Given the description of an element on the screen output the (x, y) to click on. 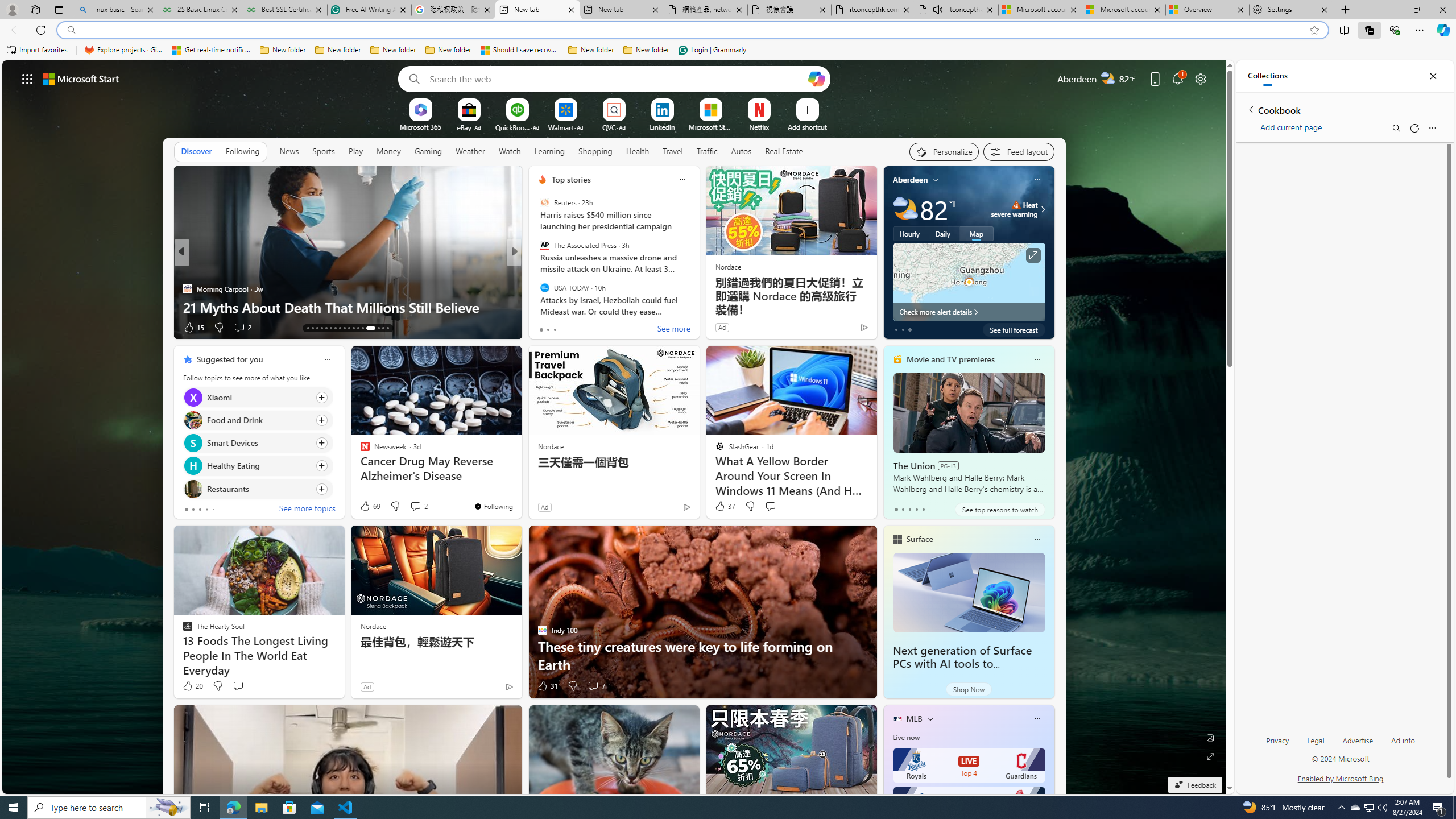
See more topics (306, 509)
Page settings (1200, 78)
25 Basic Linux Commands For Beginners - GeeksforGeeks (200, 9)
MLB (914, 718)
AutomationID: tab-21 (344, 328)
AutomationID: tab-28 (382, 328)
Search icon (70, 29)
Hourly (909, 233)
Autos (740, 151)
Learning (549, 151)
